Given the description of an element on the screen output the (x, y) to click on. 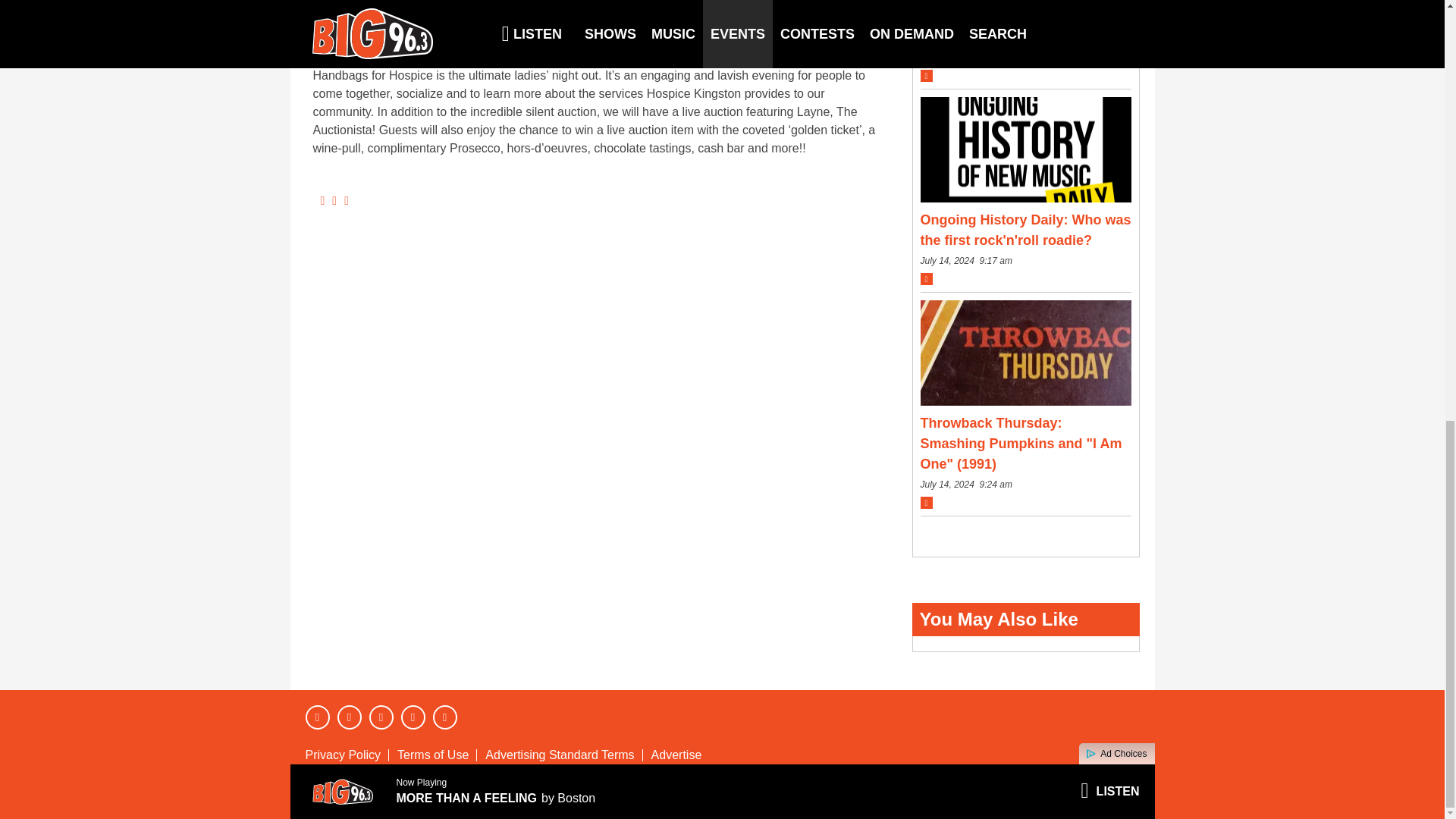
Corus (1088, 792)
